Given the description of an element on the screen output the (x, y) to click on. 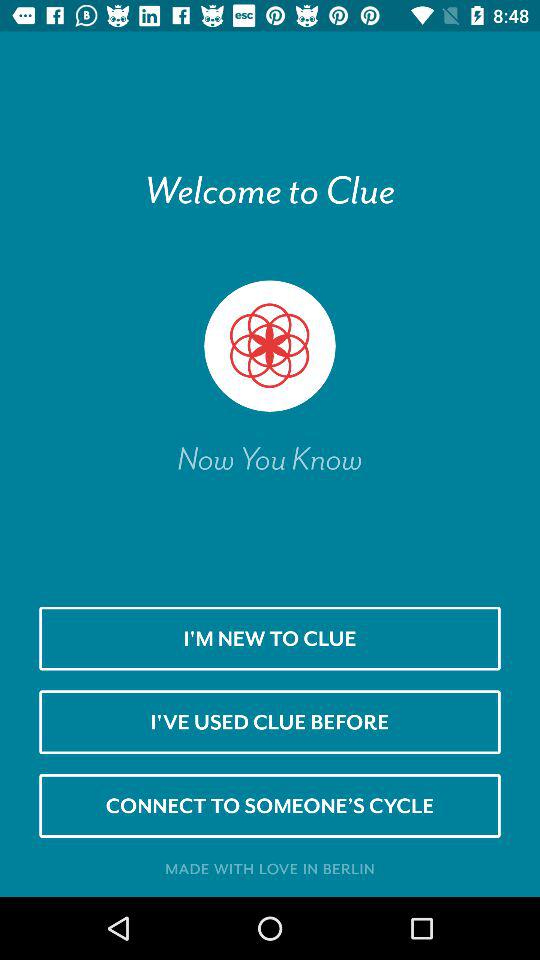
launch item below the i ve used item (269, 805)
